Given the description of an element on the screen output the (x, y) to click on. 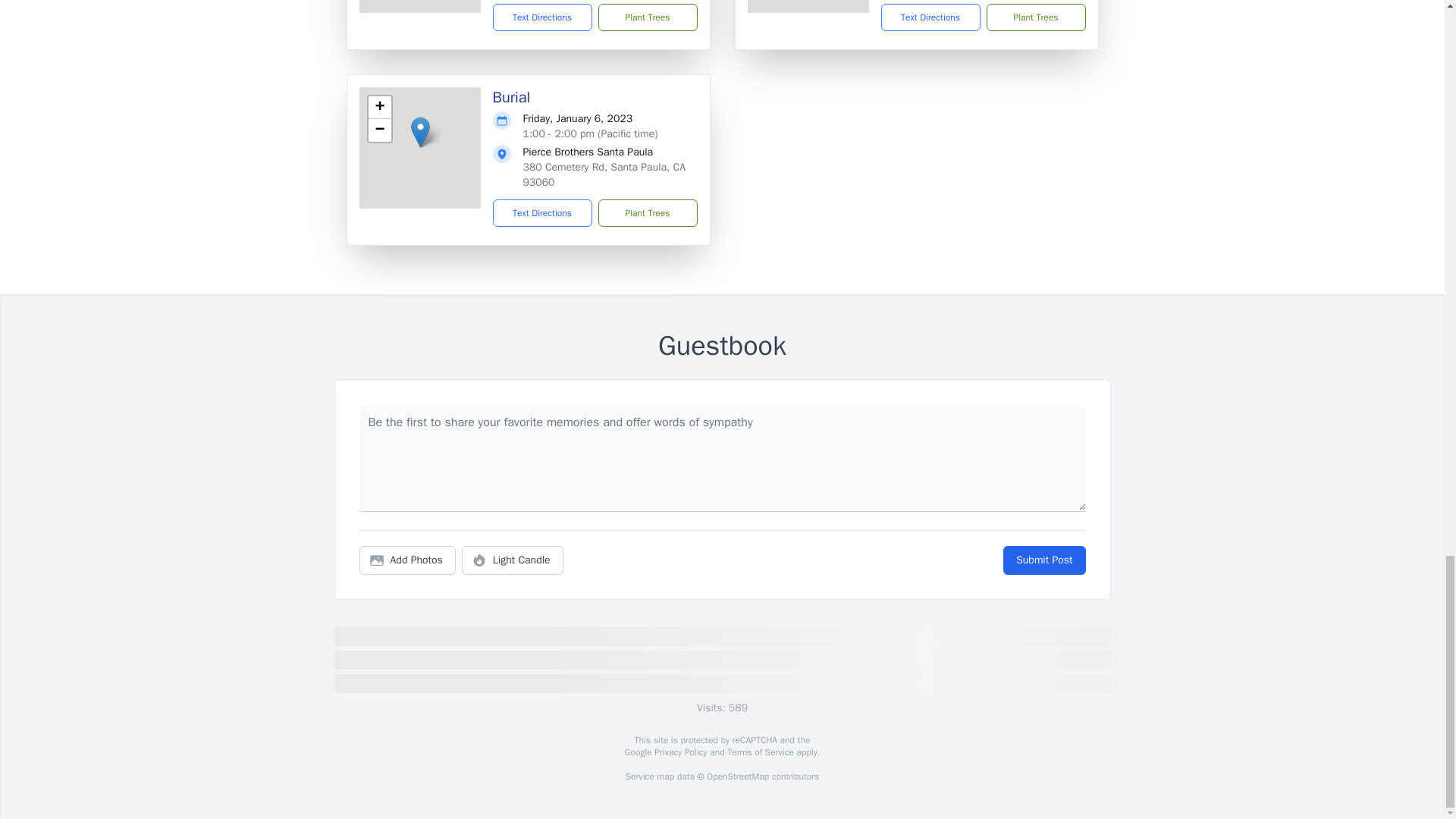
Text Directions (929, 17)
Plant Trees (646, 212)
Zoom in (379, 107)
Plant Trees (646, 17)
Text Directions (542, 17)
Text Directions (542, 212)
380 Cemetery Rd, Santa Paula, CA 93060 (603, 174)
Zoom out (379, 129)
Plant Trees (1034, 17)
